Given the description of an element on the screen output the (x, y) to click on. 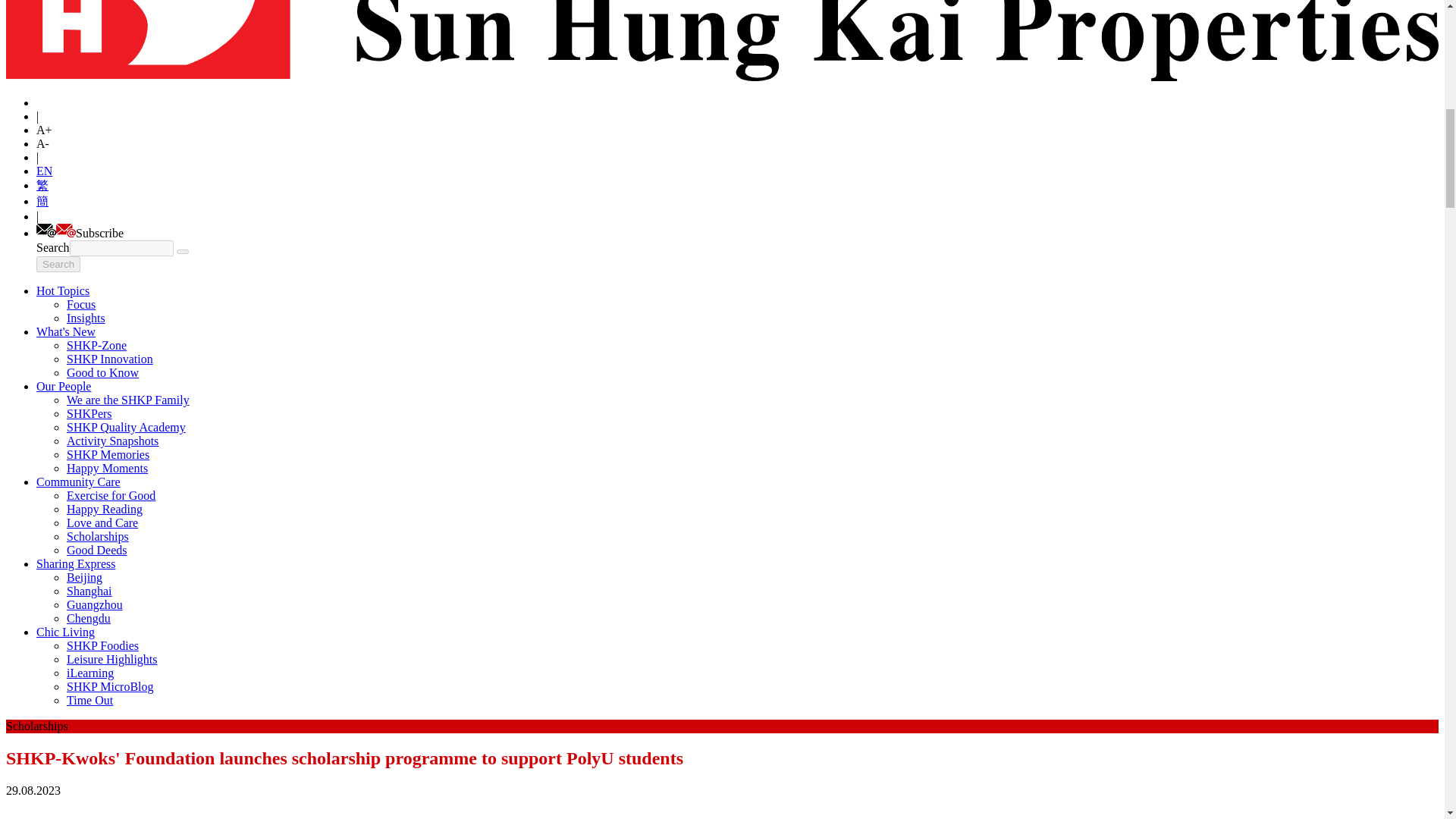
EN (44, 170)
Shanghai (89, 590)
SHKPers (89, 413)
Good to Know (102, 372)
SHKP Quality Academy (126, 427)
Leisure Highlights (111, 658)
Focus (81, 304)
iLearning (89, 672)
SHKP Foodies (102, 645)
Insights (85, 318)
Our People (63, 386)
Community Care (78, 481)
SHKP-Zone (96, 345)
Chengdu (88, 617)
We are the SHKP Family (127, 399)
